Given the description of an element on the screen output the (x, y) to click on. 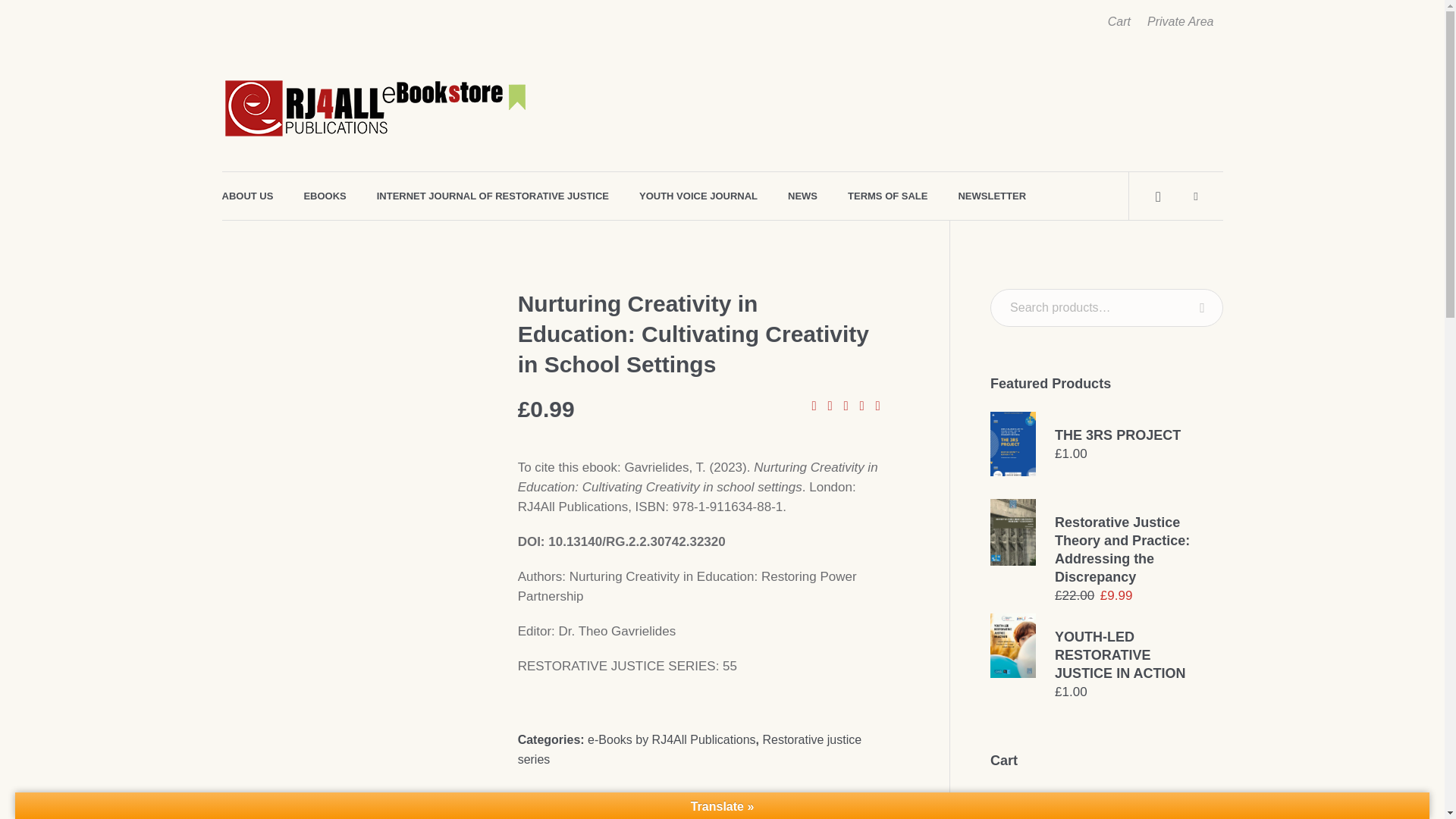
YOUTH VOICE JOURNAL (698, 196)
INTERNET JOURNAL OF RESTORATIVE JUSTICE (492, 196)
NEWSLETTER (992, 196)
ABOUT US (247, 196)
EBOOKS (324, 196)
NEWS (801, 196)
Rated 0 out of 5 (845, 405)
Cart (1119, 21)
Private Area (1179, 21)
TERMS OF SALE (887, 196)
1 (556, 805)
